Given the description of an element on the screen output the (x, y) to click on. 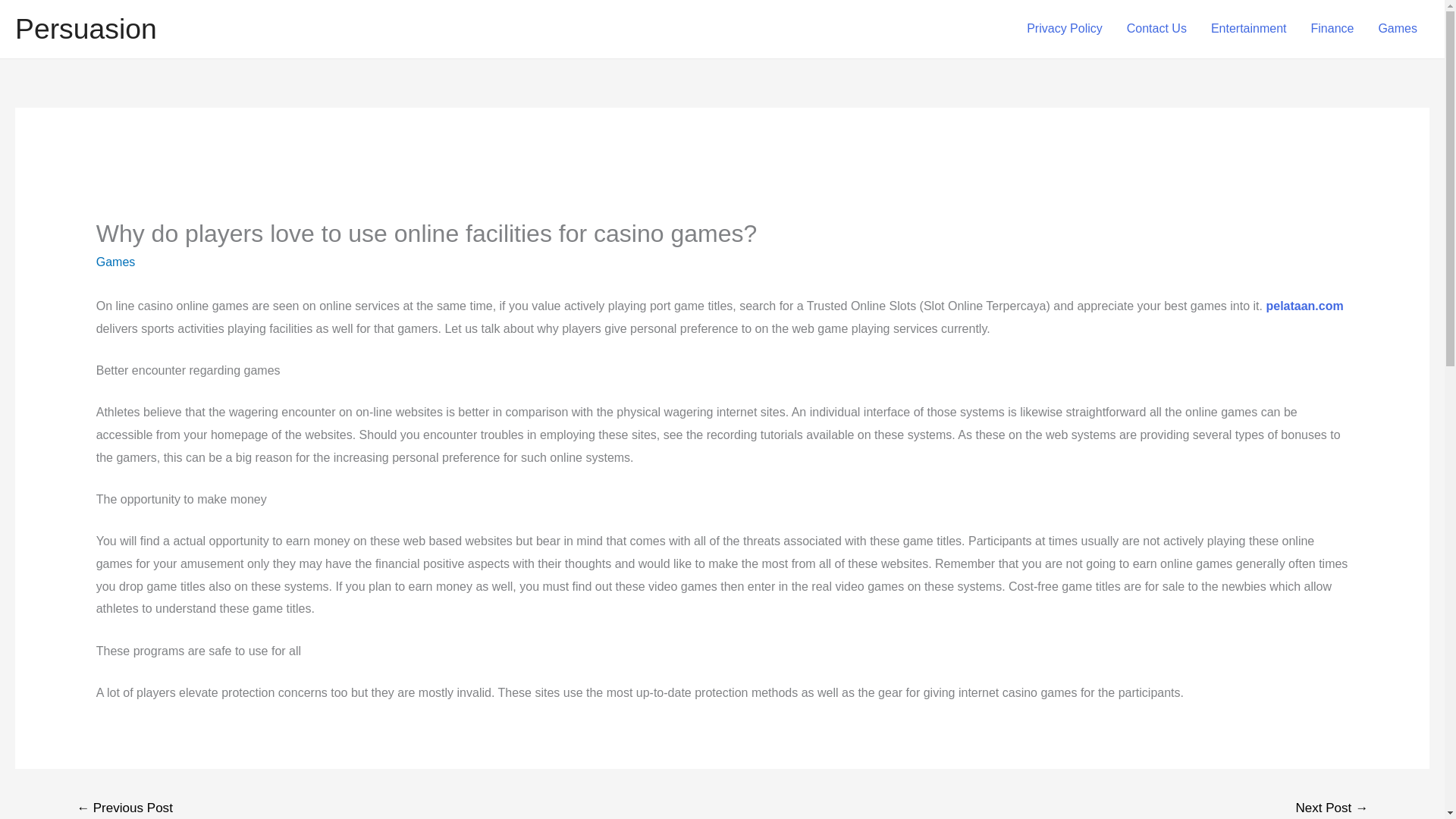
Entertainment (1248, 28)
pelataan.com (1303, 305)
Games (115, 261)
Persuasion (85, 29)
Privacy Policy (1064, 28)
Finance (1331, 28)
Contact Us (1156, 28)
Games (1397, 28)
